Given the description of an element on the screen output the (x, y) to click on. 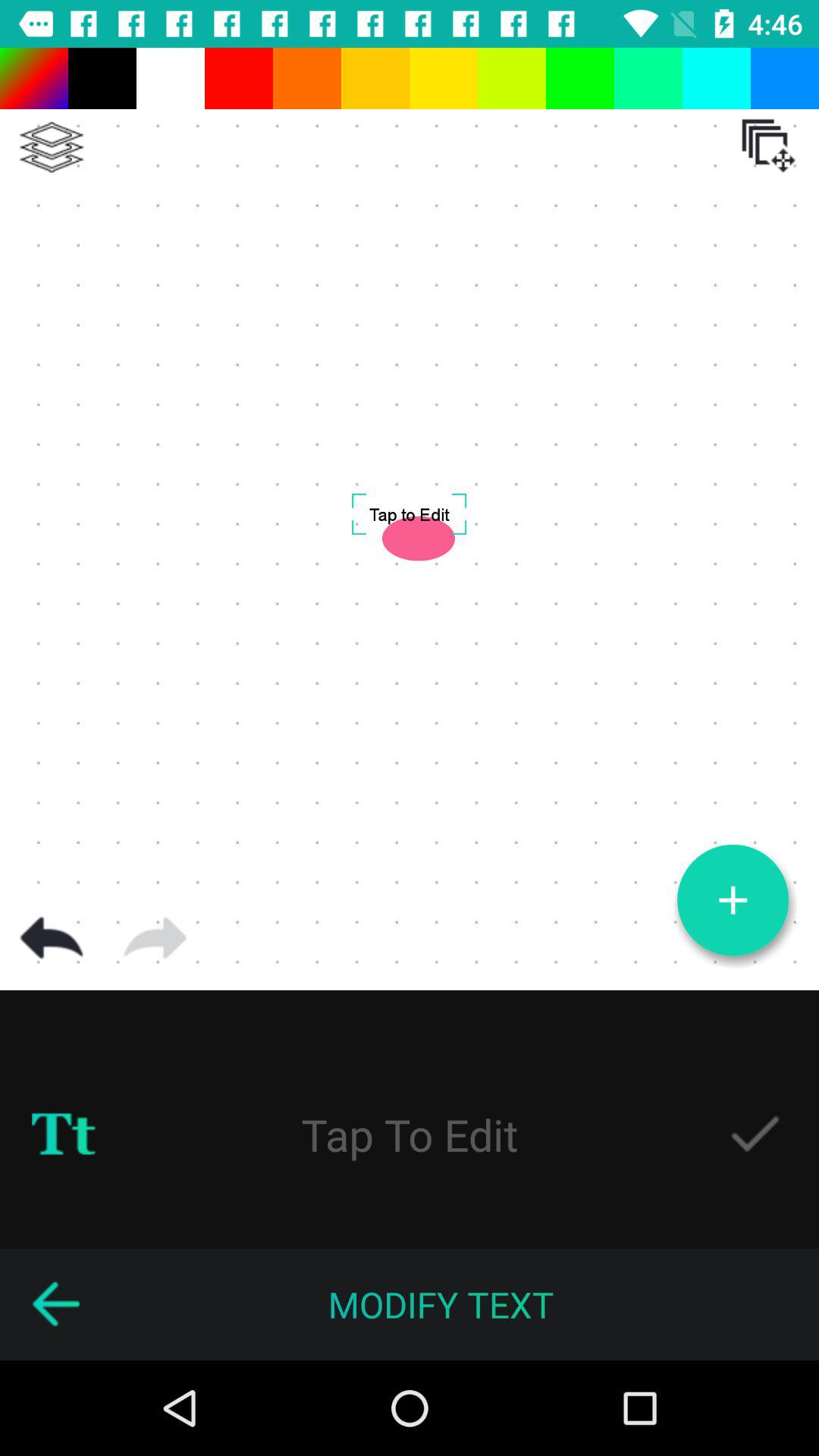
edit text box (409, 1134)
